Given the description of an element on the screen output the (x, y) to click on. 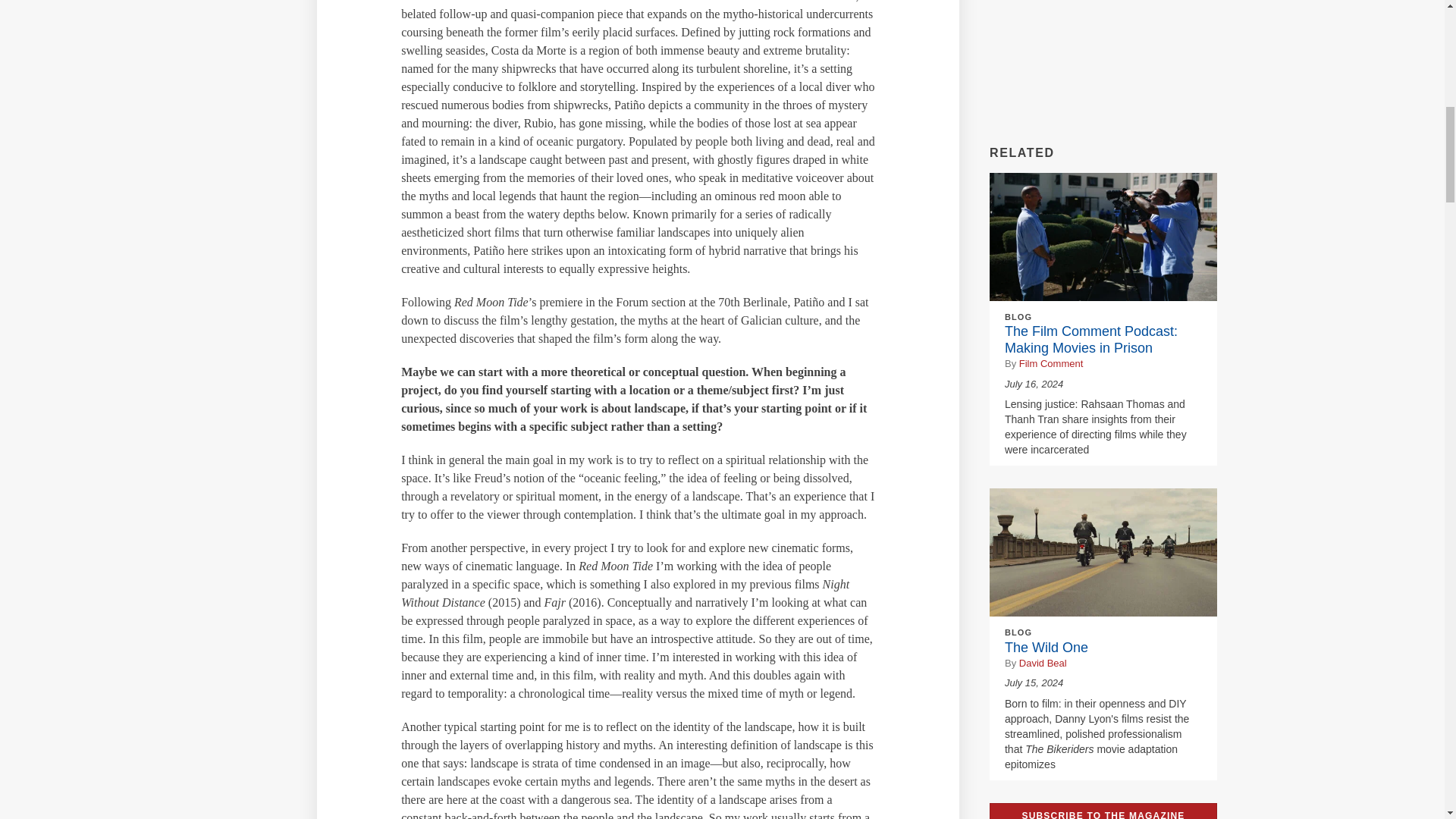
3rd party ad content (1103, 61)
